Given the description of an element on the screen output the (x, y) to click on. 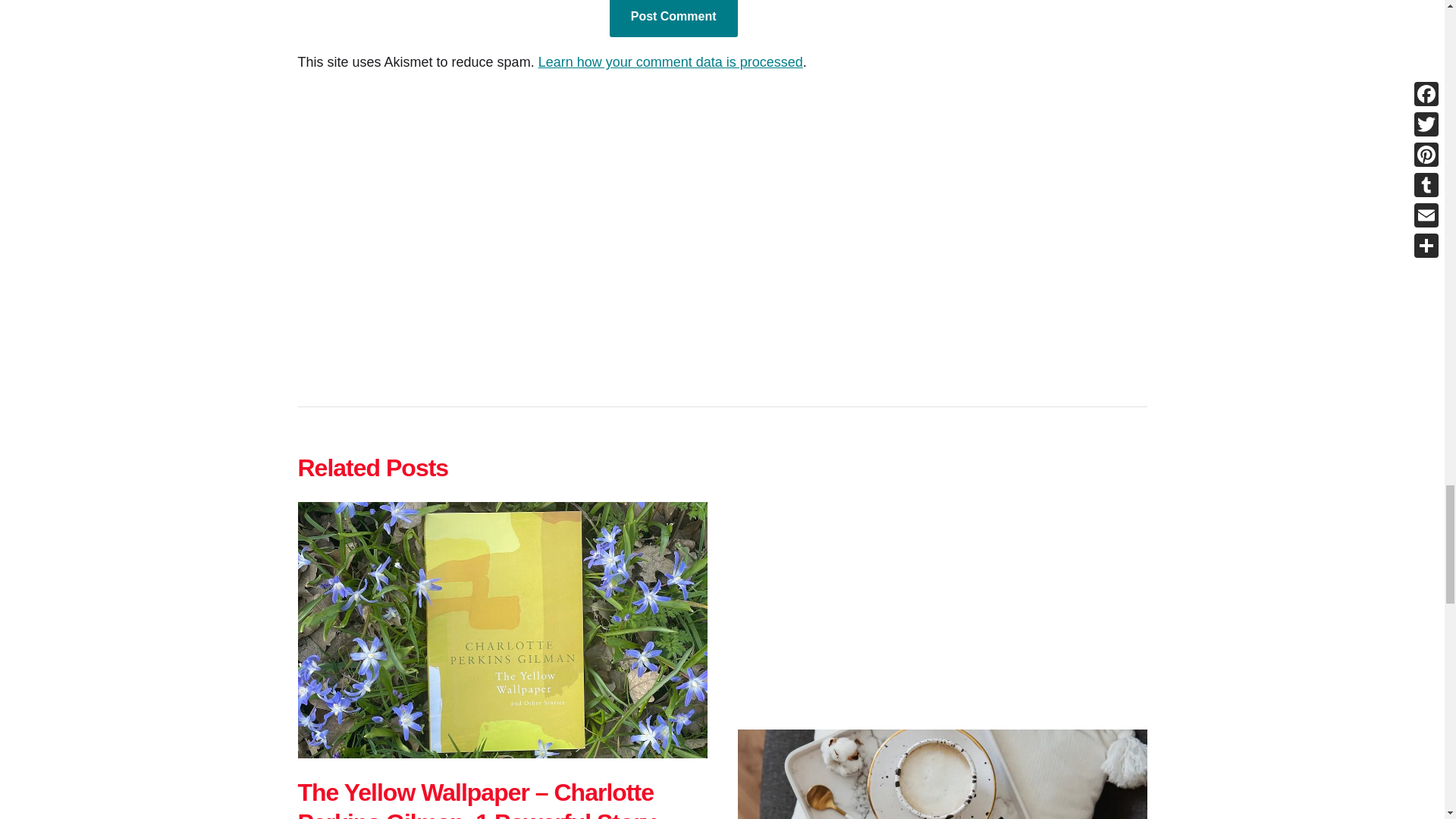
Post Comment (674, 18)
Post Comment (674, 18)
Learn how your comment data is processed (670, 61)
